Given the description of an element on the screen output the (x, y) to click on. 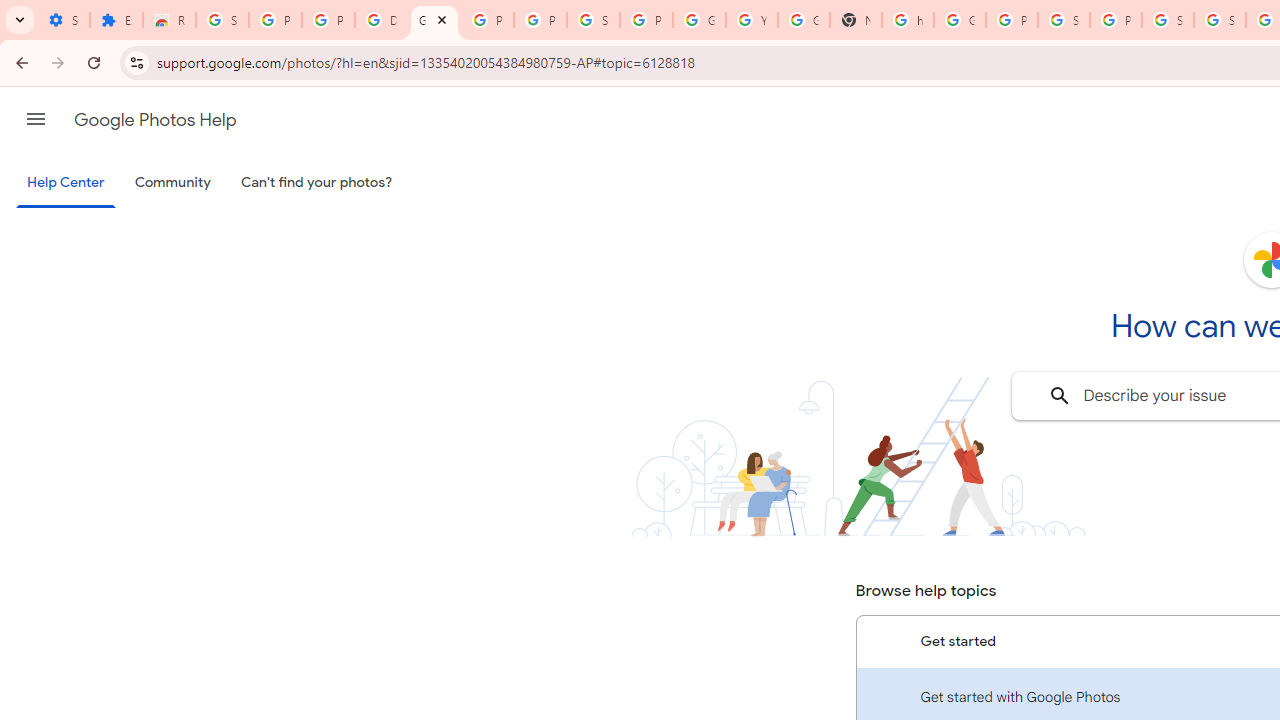
New Tab (855, 20)
Reviews: Helix Fruit Jump Arcade Game (169, 20)
